Given the description of an element on the screen output the (x, y) to click on. 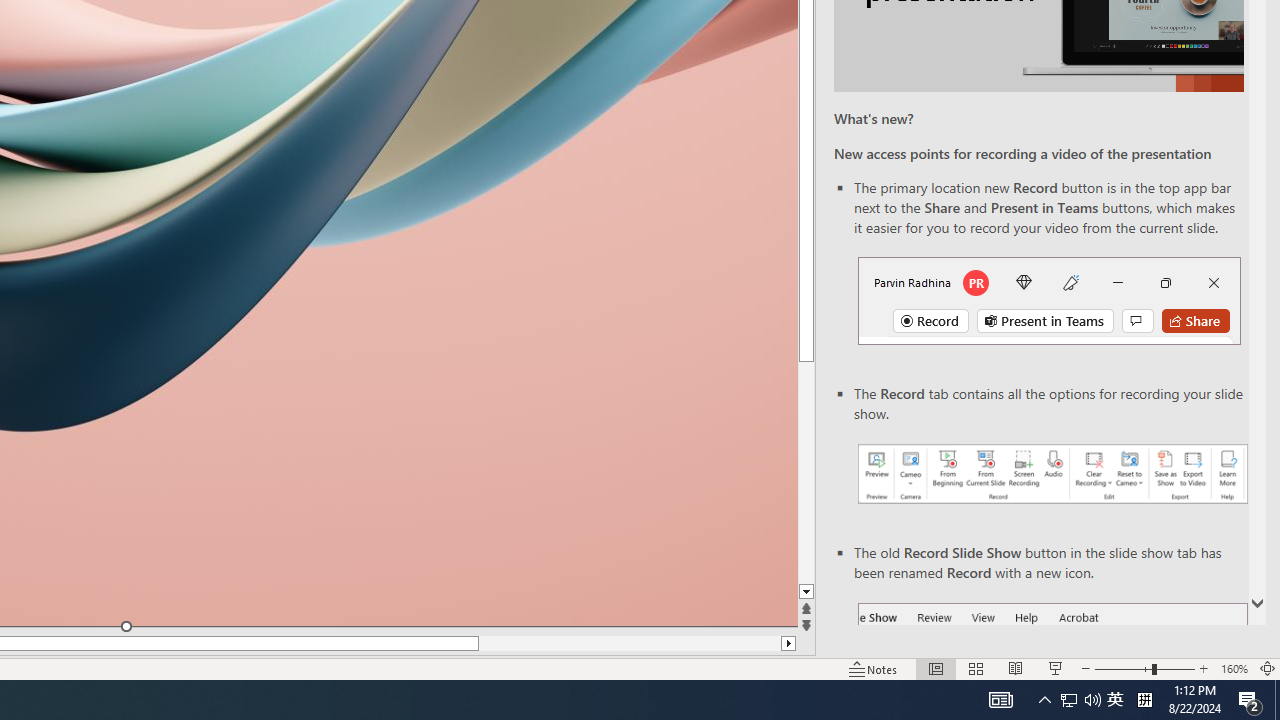
Zoom 160% (1234, 668)
